Given the description of an element on the screen output the (x, y) to click on. 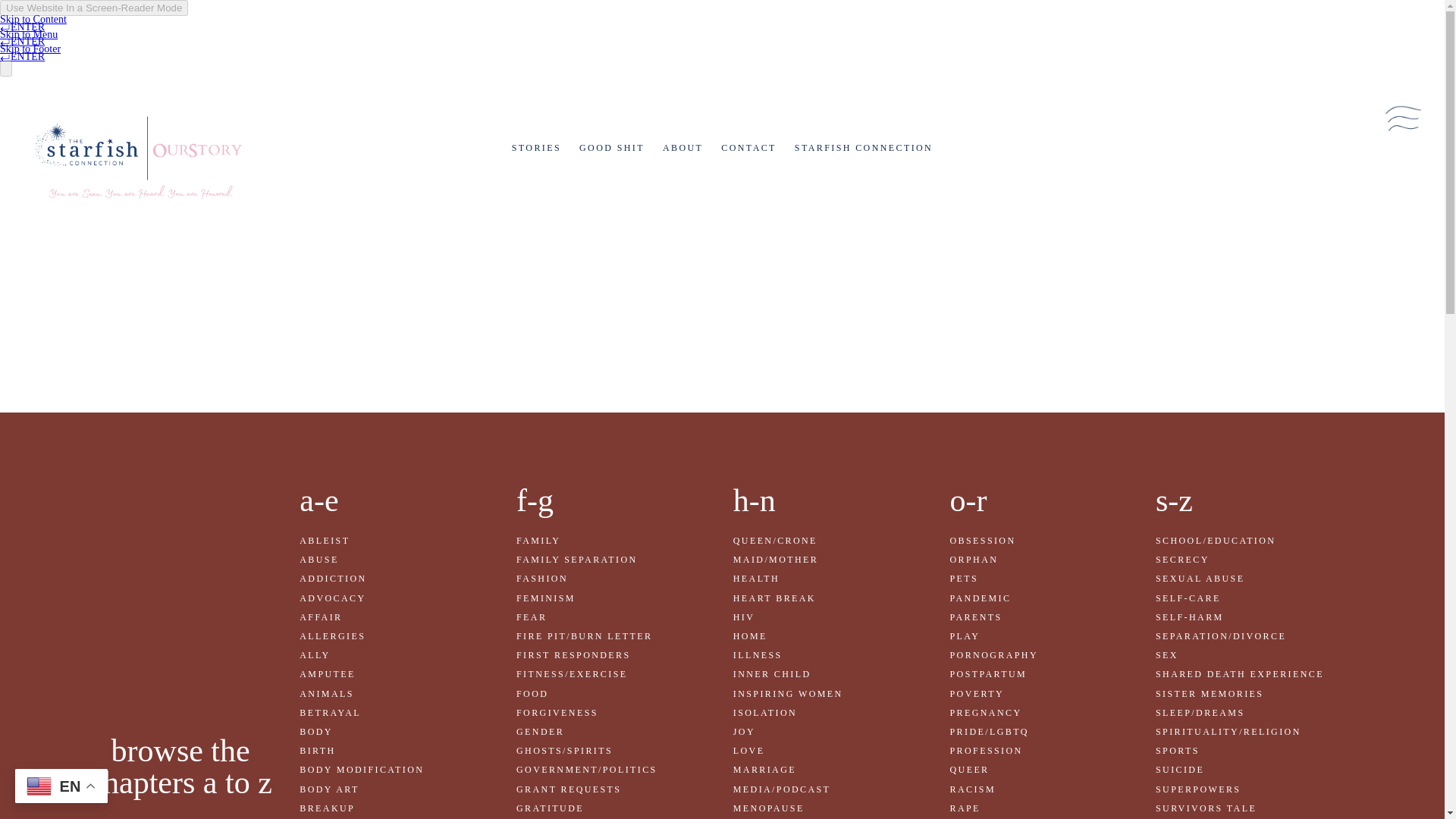
STORIES (536, 147)
